Given the description of an element on the screen output the (x, y) to click on. 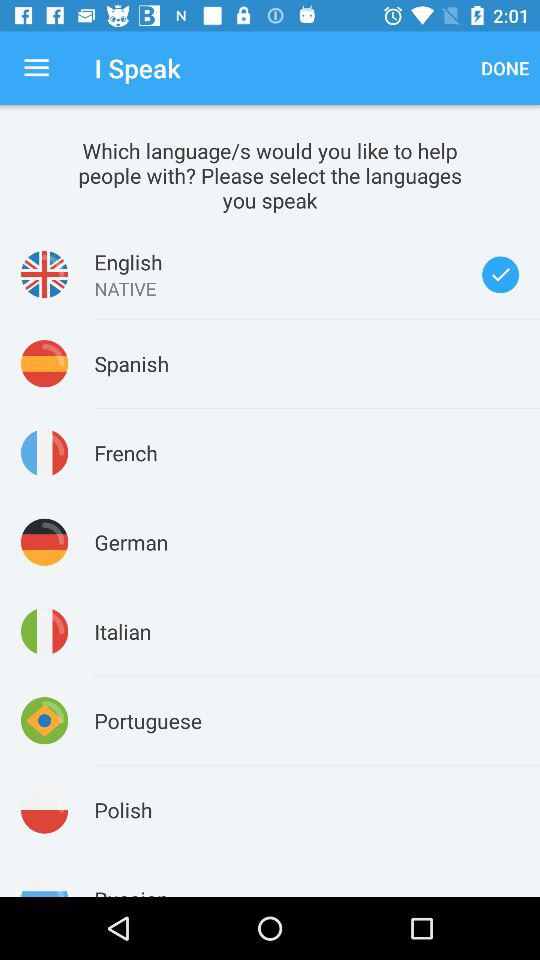
launch the icon to the left of the i speak (36, 68)
